Given the description of an element on the screen output the (x, y) to click on. 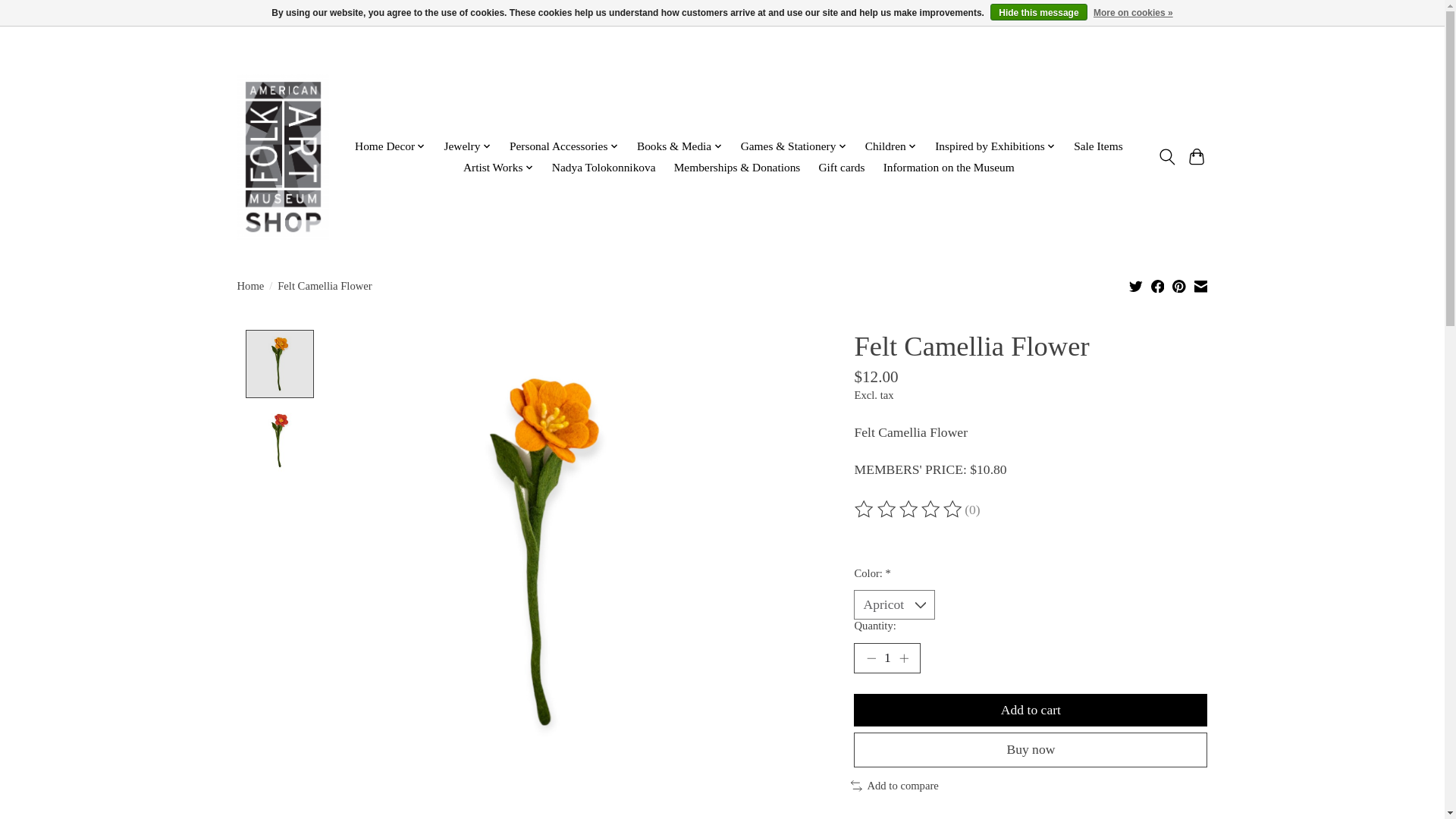
1 (886, 657)
Personal Accessories (563, 147)
My account (1173, 55)
Home Decor (389, 147)
Jewelry (467, 147)
